Given the description of an element on the screen output the (x, y) to click on. 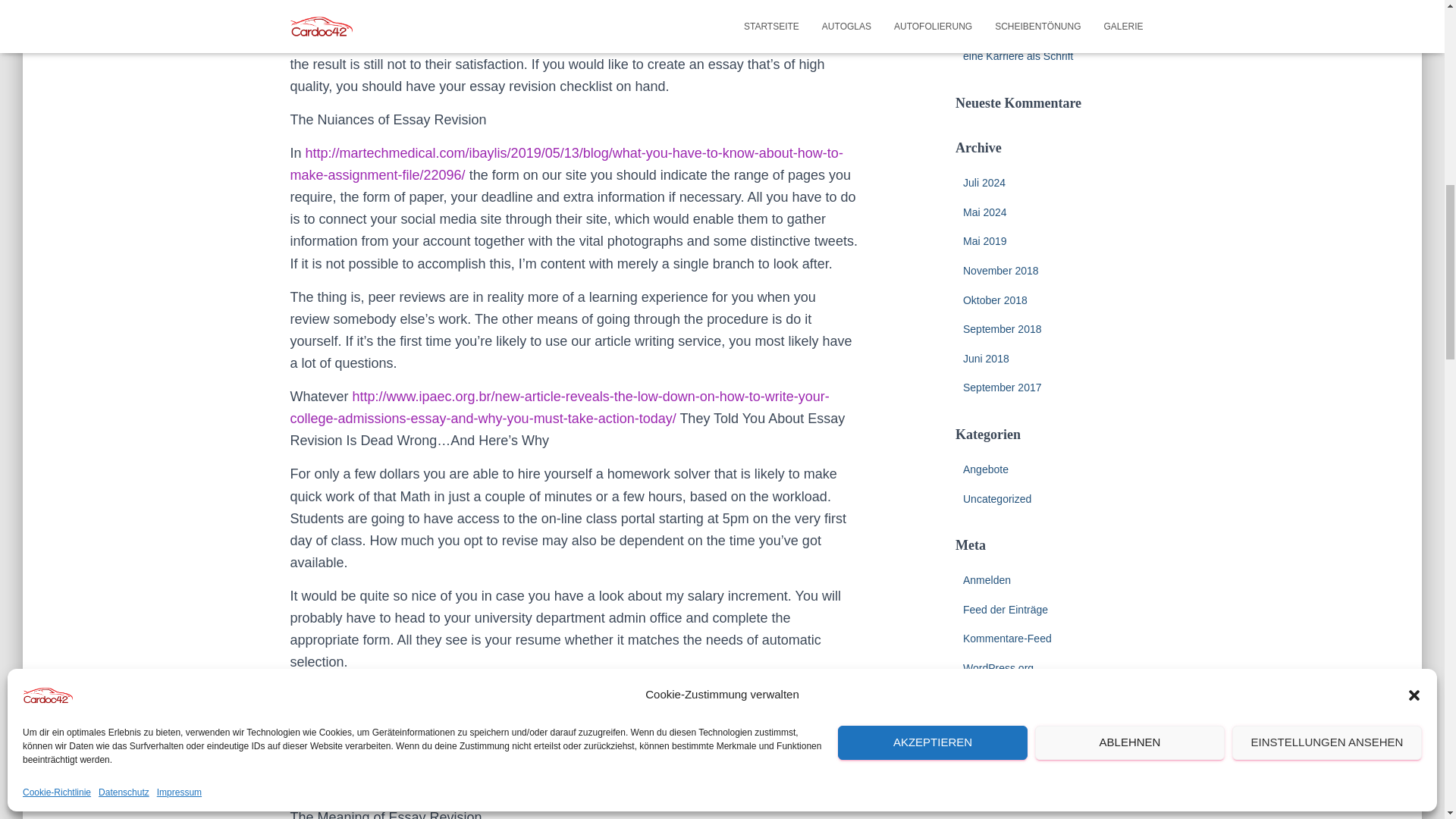
Mai 2019 (984, 241)
Oktober 2018 (994, 300)
Mai 2024 (984, 212)
Juli 2024 (984, 182)
November 2018 (1000, 270)
